Given the description of an element on the screen output the (x, y) to click on. 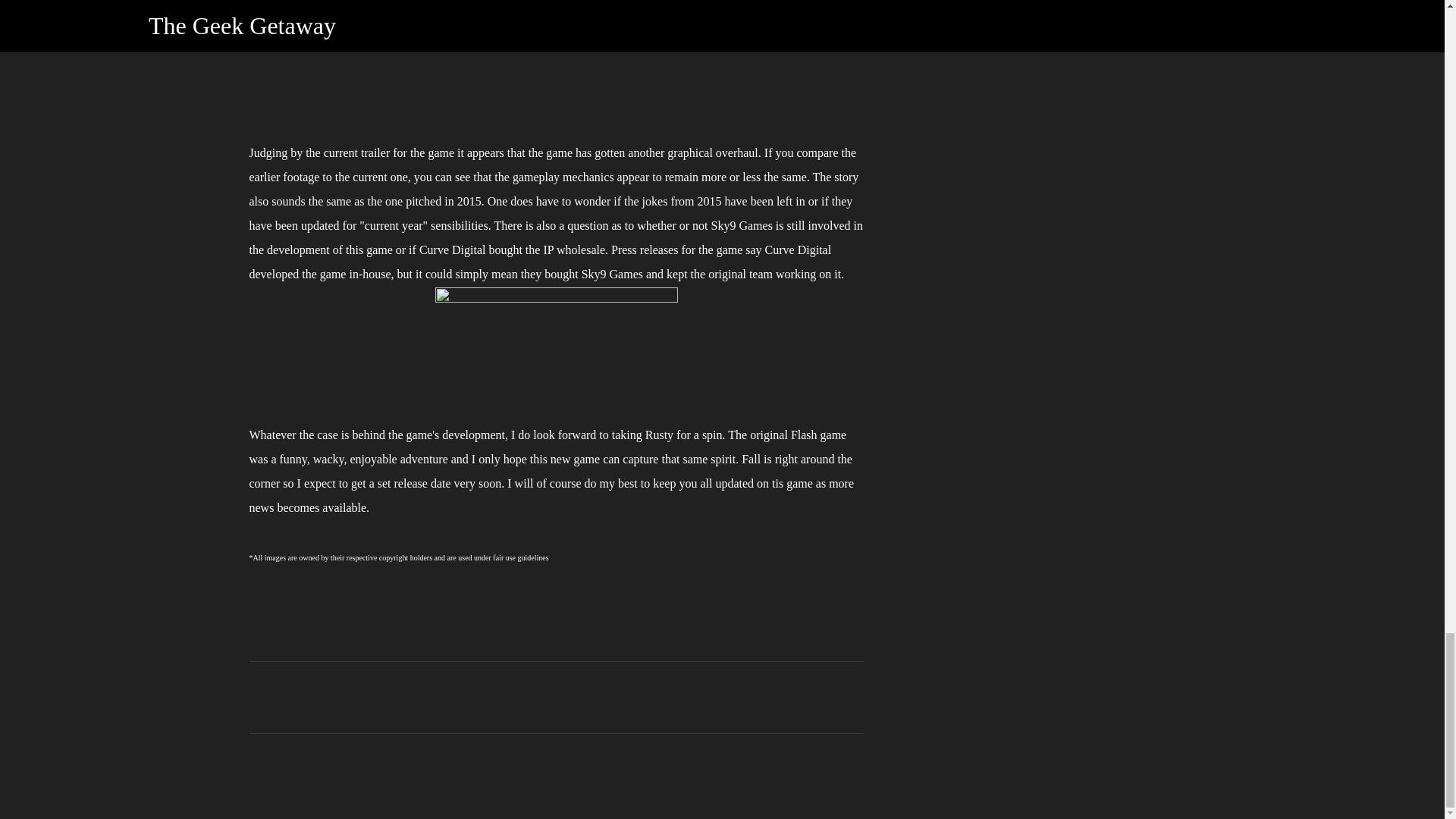
Powered by Blogger (721, 797)
